Given the description of an element on the screen output the (x, y) to click on. 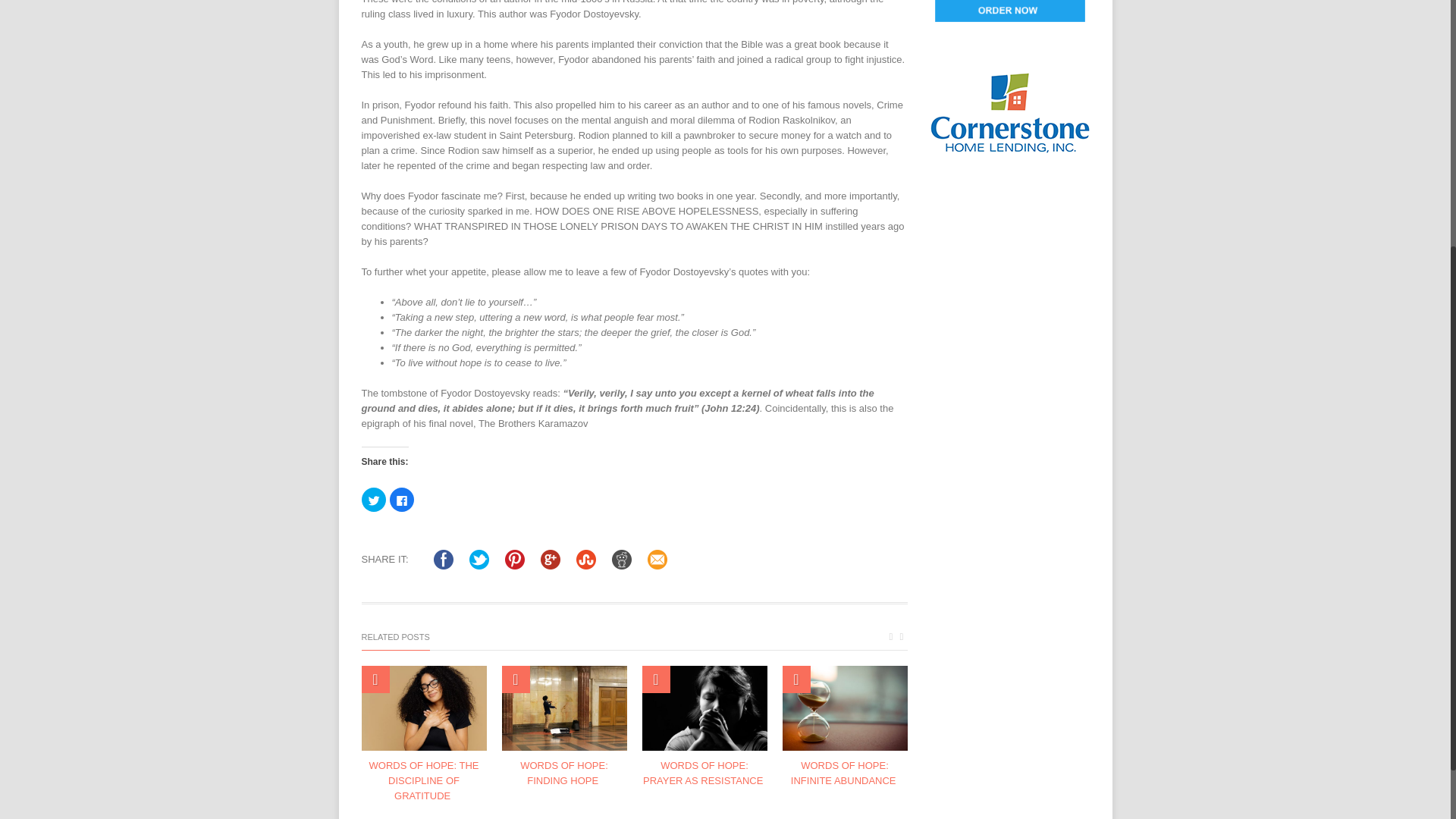
Email this Post (657, 559)
Pin on Pinterest (514, 559)
Share on Reddit (621, 559)
Tweet on Twitter (479, 559)
Share on StumbleUpon (585, 559)
Share on Google Plus (550, 559)
Click to share on Facebook (401, 499)
Share on Facebook (442, 559)
